Given the description of an element on the screen output the (x, y) to click on. 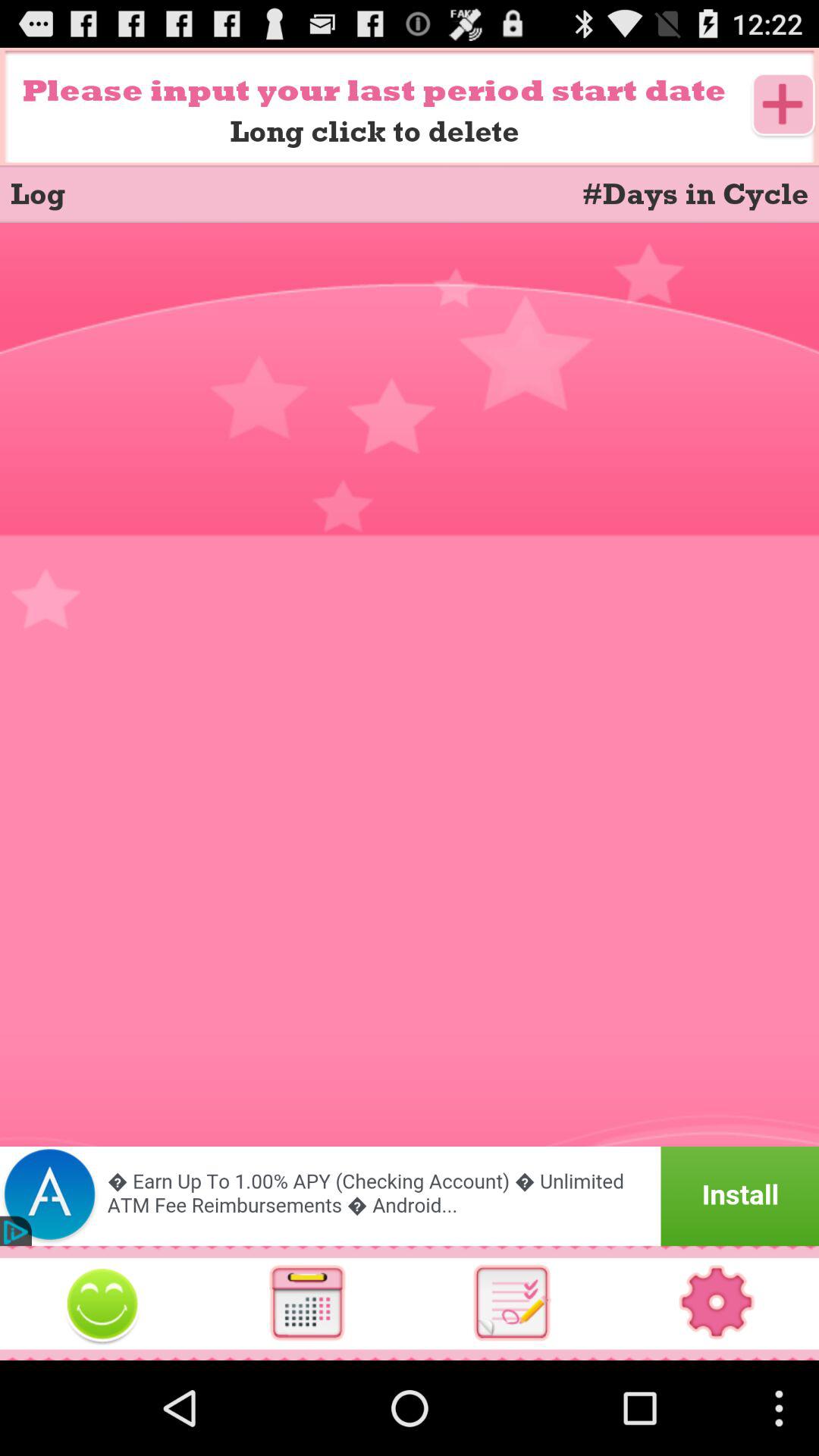
settings (716, 1302)
